Given the description of an element on the screen output the (x, y) to click on. 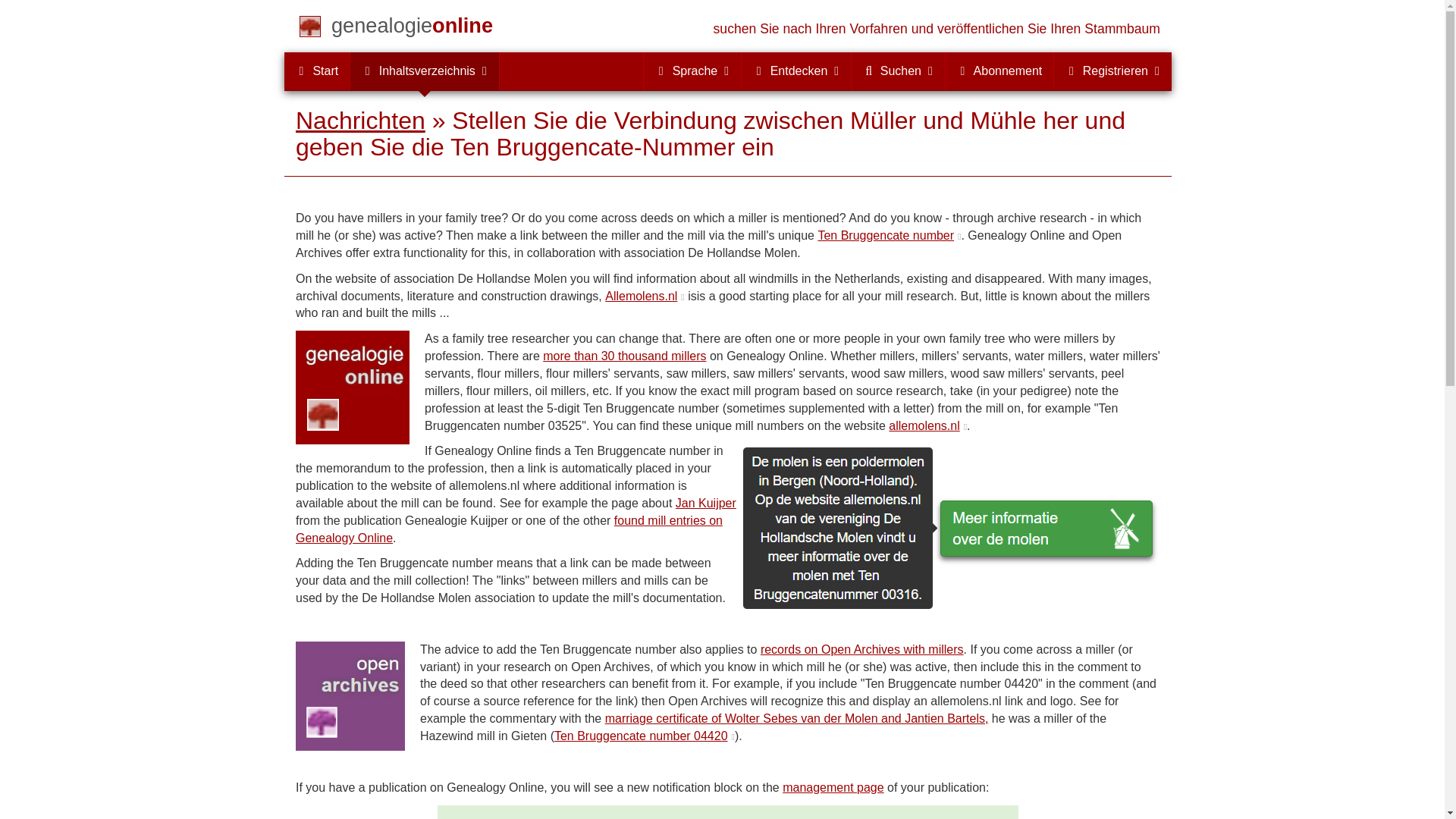
 Inhaltsverzeichnis (424, 71)
 Start (316, 71)
 Entdecken (795, 71)
 Sprache (692, 71)
